Given the description of an element on the screen output the (x, y) to click on. 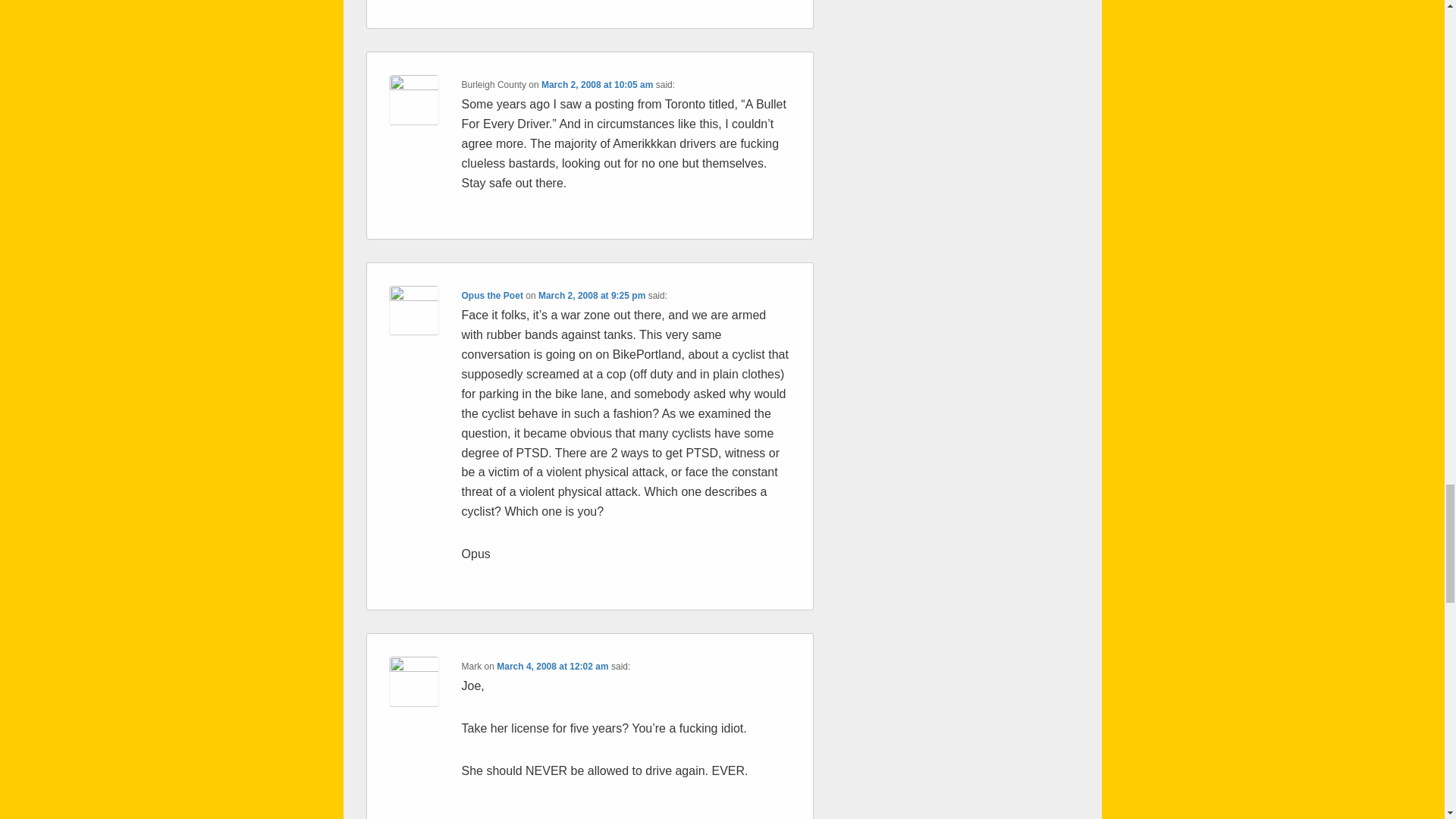
Opus the Poet (491, 295)
March 2, 2008 at 9:25 pm (591, 295)
March 2, 2008 at 10:05 am (596, 84)
